Given the description of an element on the screen output the (x, y) to click on. 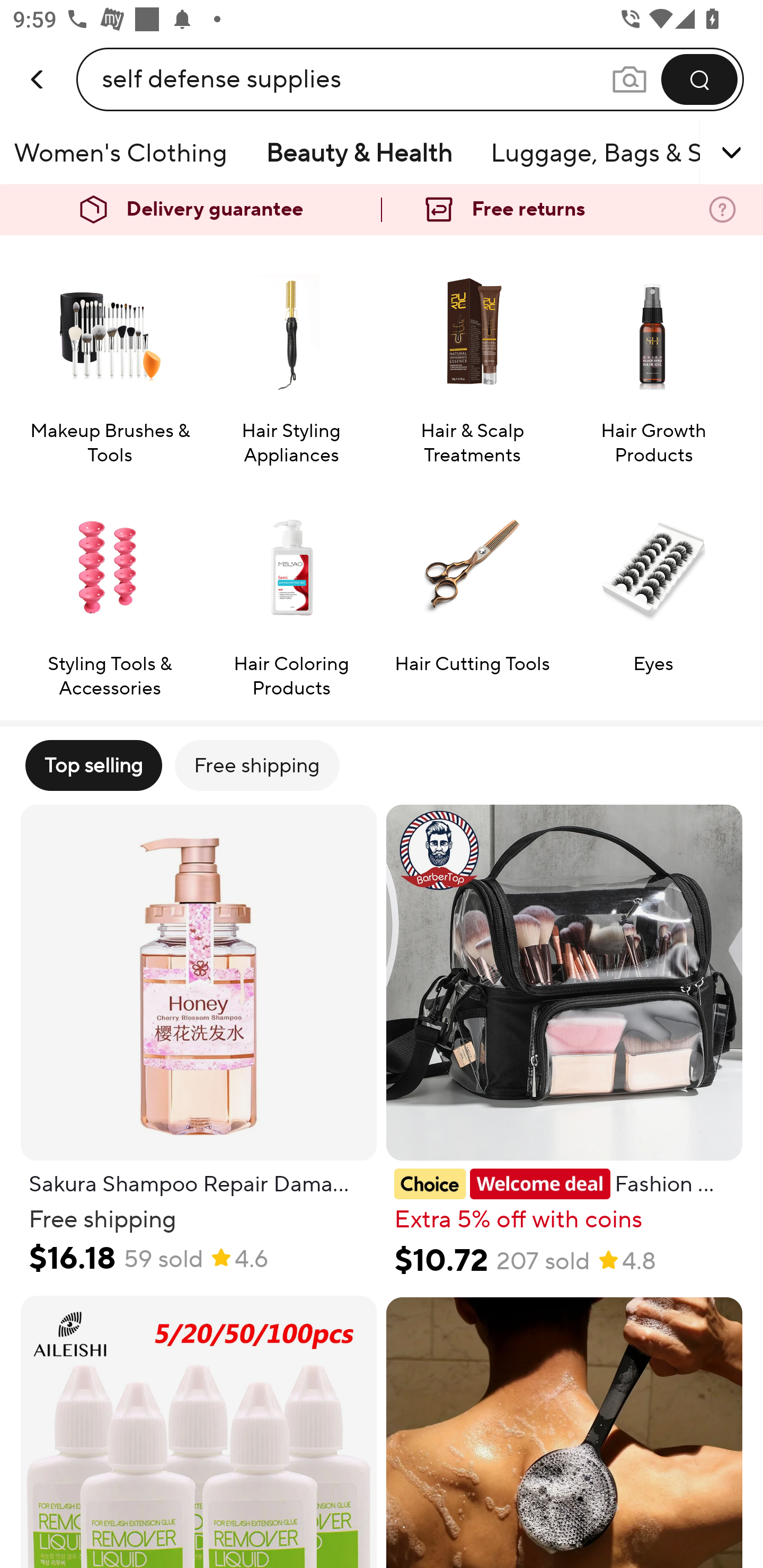
back  (38, 59)
self defense supplies Search query (355, 79)
Women's Clothing (126, 152)
Luggage, Bags & Shoes (591, 152)
 (705, 152)
Delivery guarantee Free returns (381, 210)
Makeup Brushes & Tools (109, 357)
Hair Styling Appliances (290, 357)
Hair & Scalp Treatments (471, 357)
Hair Growth Products (653, 357)
Styling Tools & Accessories (109, 590)
Hair Coloring Products (290, 590)
Hair Cutting Tools (471, 590)
Eyes (653, 590)
Top selling (93, 765)
Free shipping (256, 765)
